Given the description of an element on the screen output the (x, y) to click on. 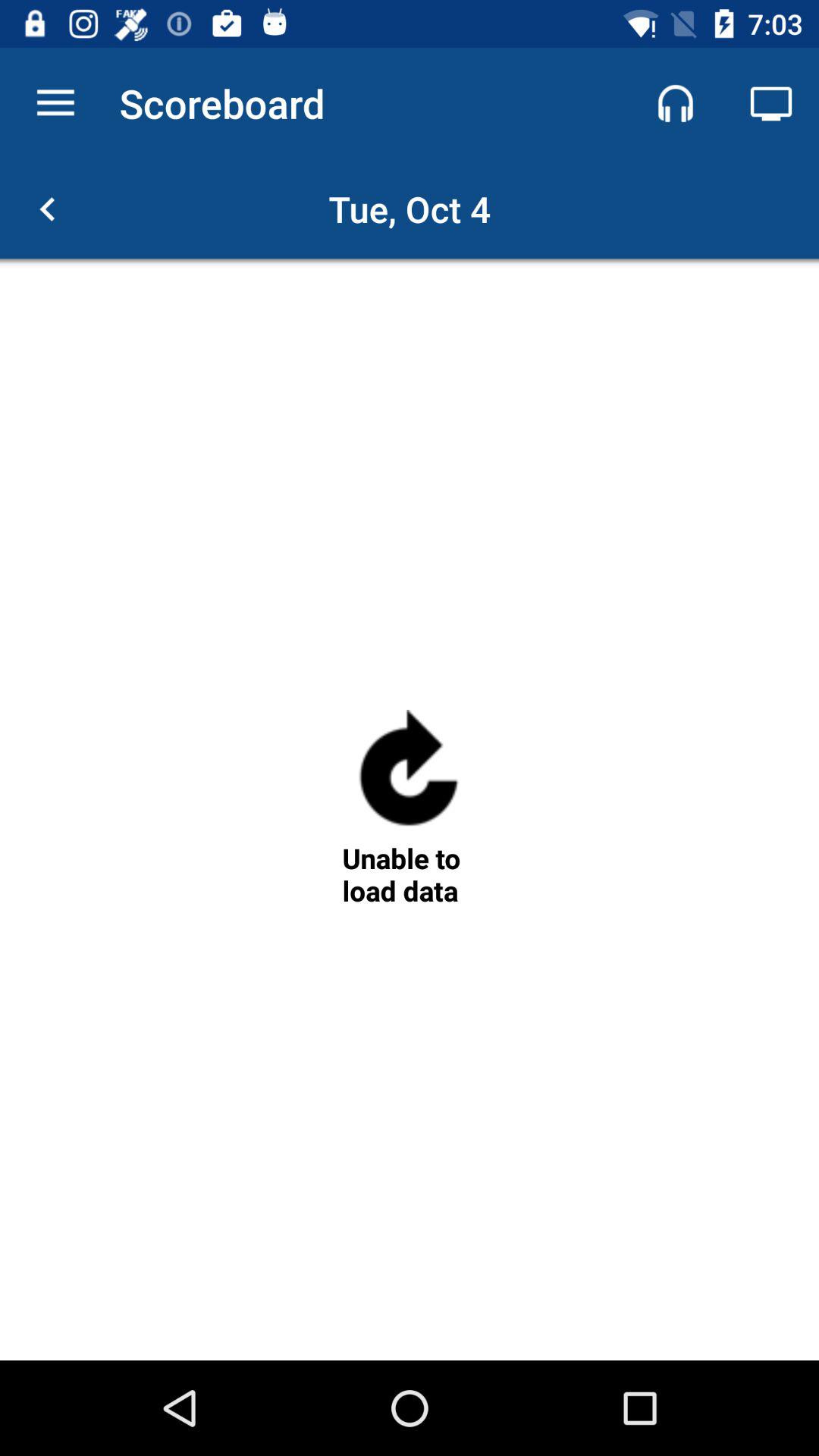
choose item next to the scoreboard app (55, 103)
